Given the description of an element on the screen output the (x, y) to click on. 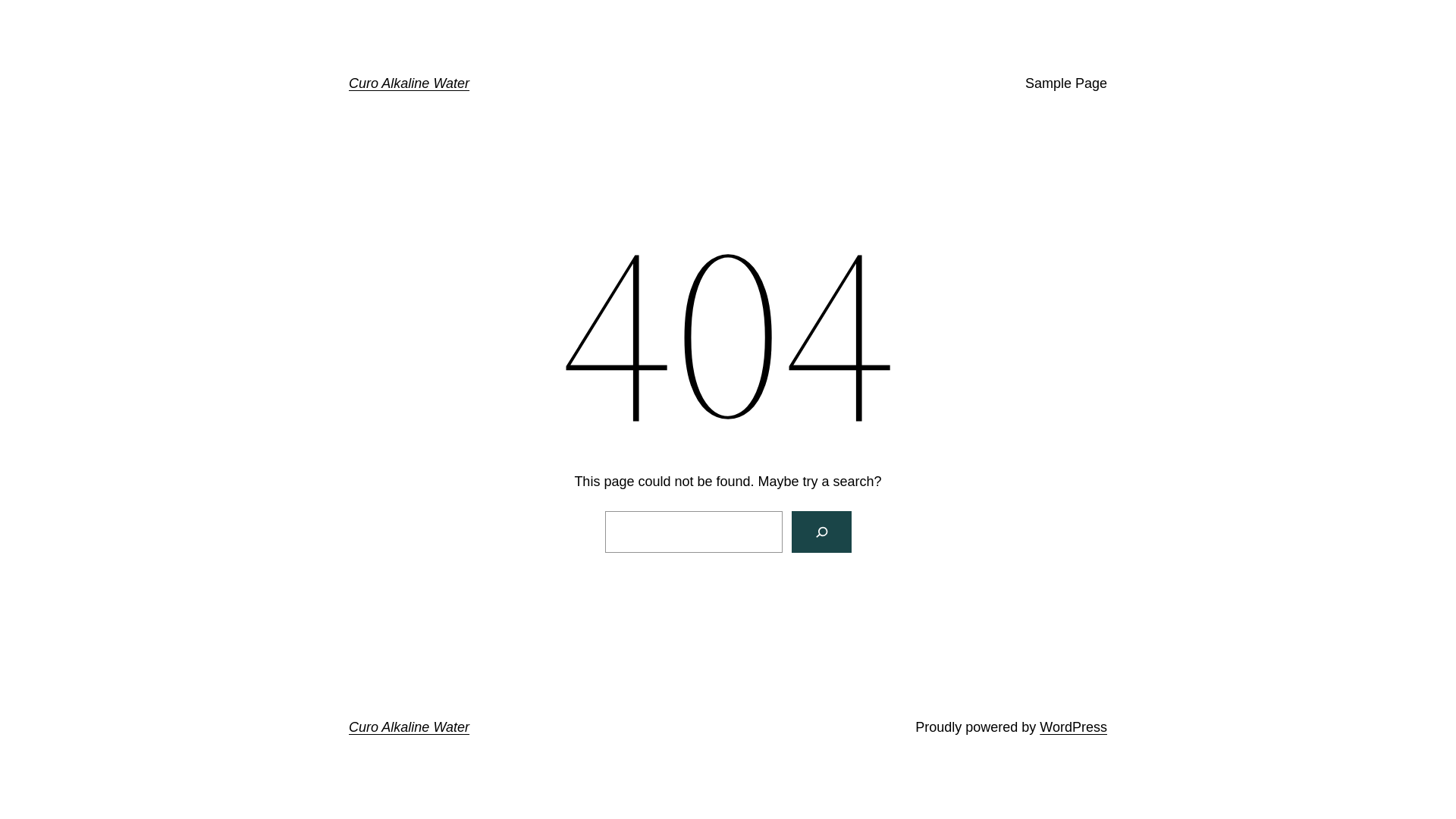
WordPress Element type: text (1073, 726)
Curo Alkaline Water Element type: text (408, 83)
Curo Alkaline Water Element type: text (408, 726)
Sample Page Element type: text (1066, 83)
